Given the description of an element on the screen output the (x, y) to click on. 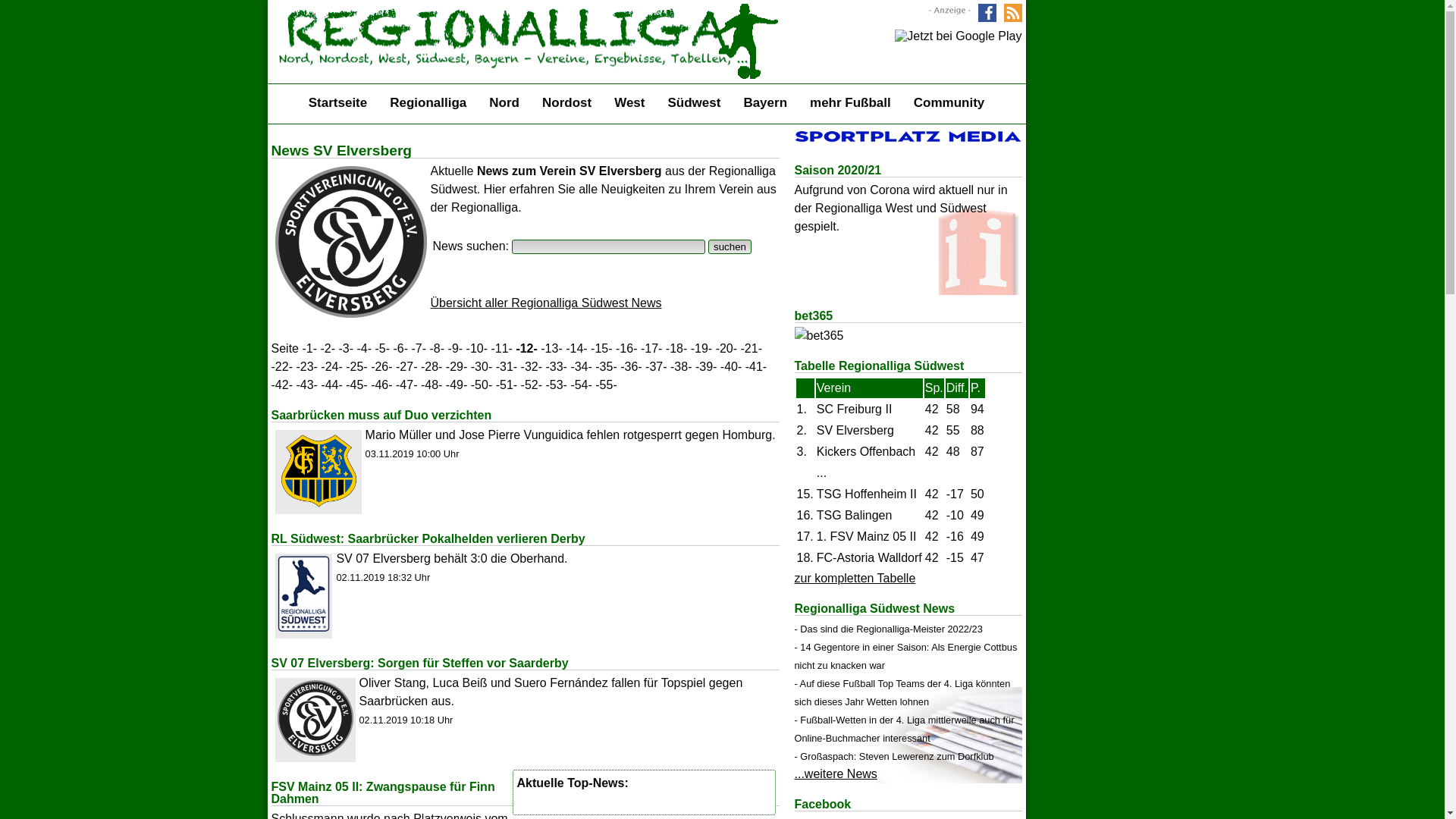
-33- Element type: text (555, 366)
-55- Element type: text (605, 384)
-14- Element type: text (575, 348)
-23- Element type: text (305, 366)
-40- Element type: text (730, 366)
-20- Element type: text (726, 348)
-1- Element type: text (308, 348)
-5- Element type: text (381, 348)
-13- Element type: text (550, 348)
Nord Element type: text (503, 102)
-21- Element type: text (751, 348)
...weitere News Element type: text (835, 773)
-17- Element type: text (651, 348)
-51- Element type: text (506, 384)
-11- Element type: text (500, 348)
-48- Element type: text (431, 384)
-36- Element type: text (630, 366)
-42- Element type: text (281, 384)
-52- Element type: text (531, 384)
West Element type: text (628, 102)
-29- Element type: text (456, 366)
-25- Element type: text (356, 366)
-43- Element type: text (305, 384)
- Das sind die Regionalliga-Meister 2022/23 Element type: text (888, 628)
zur kompletten Tabelle Element type: text (855, 577)
-22- Element type: text (281, 366)
-12- Element type: text (525, 348)
-34- Element type: text (580, 366)
-10- Element type: text (476, 348)
-2- Element type: text (327, 348)
-6- Element type: text (399, 348)
-38- Element type: text (680, 366)
-3- Element type: text (345, 348)
Regionalliga Element type: text (427, 102)
-24- Element type: text (331, 366)
-18- Element type: text (676, 348)
-28- Element type: text (431, 366)
-37- Element type: text (655, 366)
Community Element type: text (949, 102)
-16- Element type: text (626, 348)
-46- Element type: text (381, 384)
-26- Element type: text (381, 366)
-50- Element type: text (481, 384)
-41- Element type: text (755, 366)
-32- Element type: text (531, 366)
-47- Element type: text (406, 384)
-54- Element type: text (580, 384)
-15- Element type: text (600, 348)
Nordost Element type: text (566, 102)
-30- Element type: text (481, 366)
-9- Element type: text (455, 348)
-4- Element type: text (363, 348)
-53- Element type: text (555, 384)
-49- Element type: text (456, 384)
Startseite Element type: text (337, 102)
-31- Element type: text (506, 366)
suchen Element type: text (729, 246)
-8- Element type: text (437, 348)
-35- Element type: text (605, 366)
-7- Element type: text (418, 348)
-27- Element type: text (406, 366)
-39- Element type: text (705, 366)
Startseite Element type: hover (525, 74)
Bayern Element type: text (764, 102)
-19- Element type: text (701, 348)
-44- Element type: text (331, 384)
-45- Element type: text (356, 384)
